Given the description of an element on the screen output the (x, y) to click on. 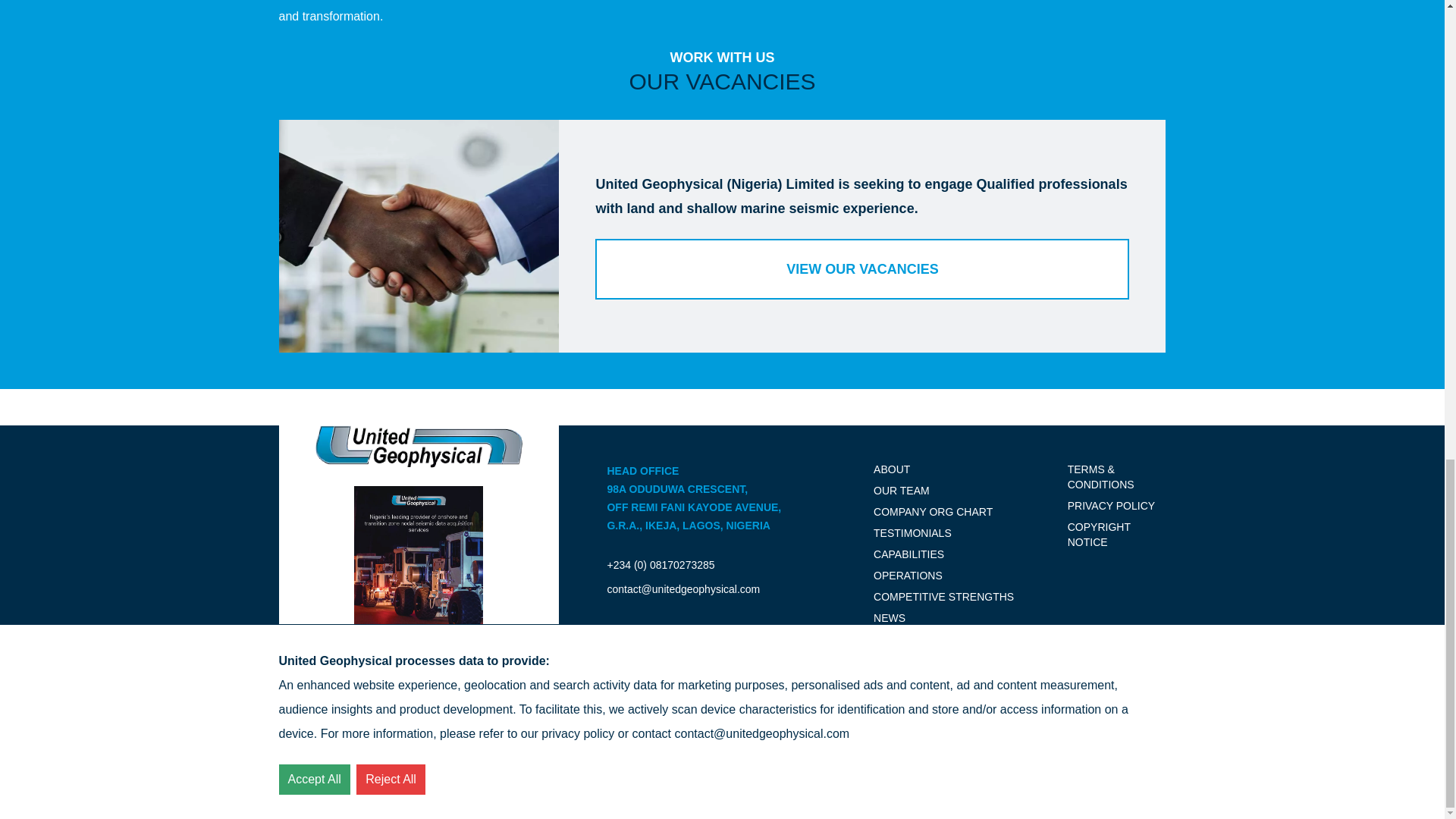
NEWS (889, 617)
ABOUT (891, 469)
VIEW OUR VACANCIES (862, 269)
COMPETITIVE STRENGTHS (418, 623)
COMPANY ORG CHART (943, 596)
TESTIMONIALS (932, 511)
OUR TEAM (912, 532)
CONTACT (901, 490)
OPERATIONS (898, 639)
CAPABILITIES (907, 575)
